Given the description of an element on the screen output the (x, y) to click on. 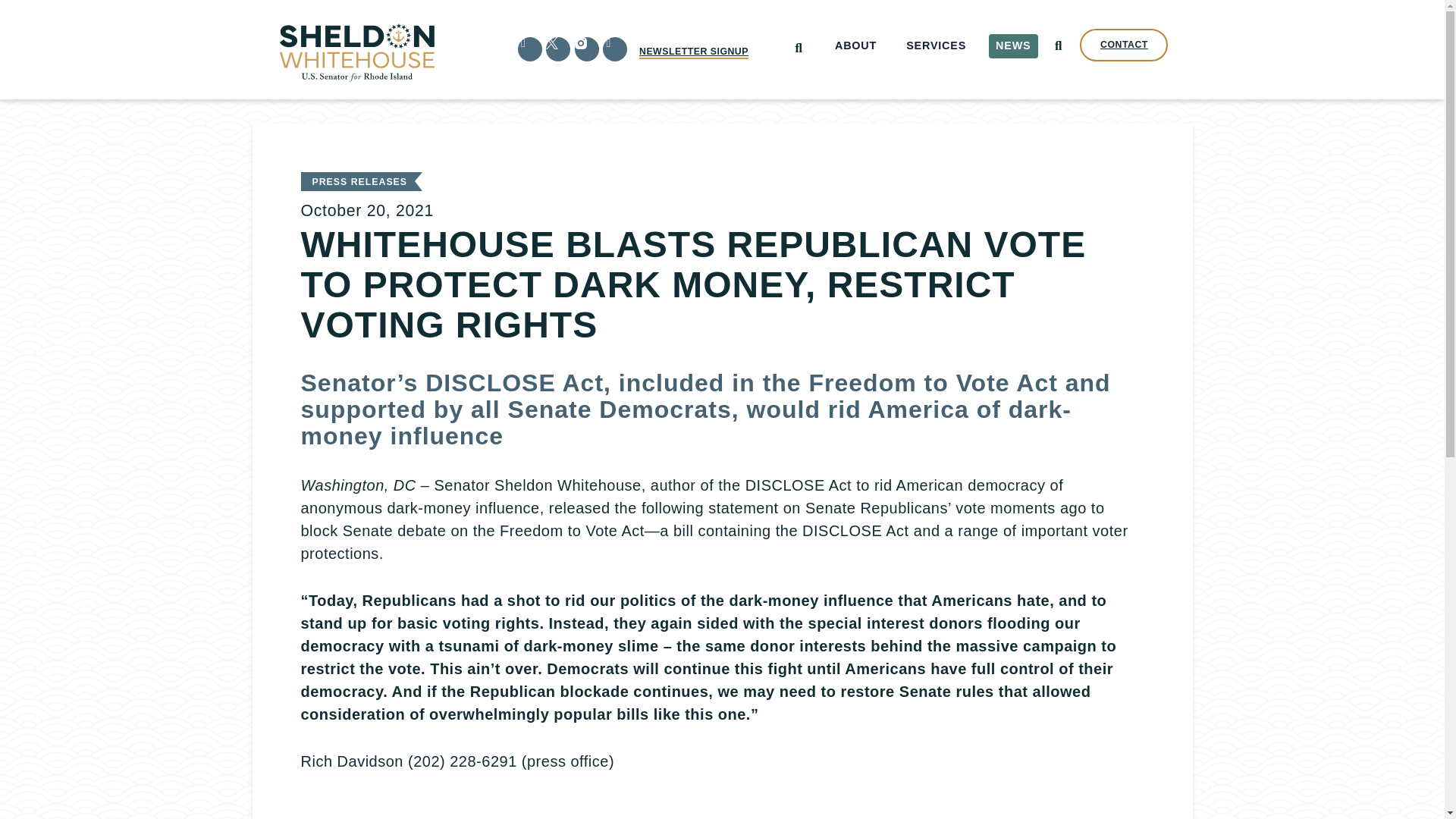
SERVICES (936, 46)
OPEN SEARCH (1057, 46)
NEWS (1013, 46)
OPEN SEARCH (798, 48)
NEWSLETTER SIGNUP (693, 51)
ABOUT (855, 46)
CONTACT (1123, 44)
